Given the description of an element on the screen output the (x, y) to click on. 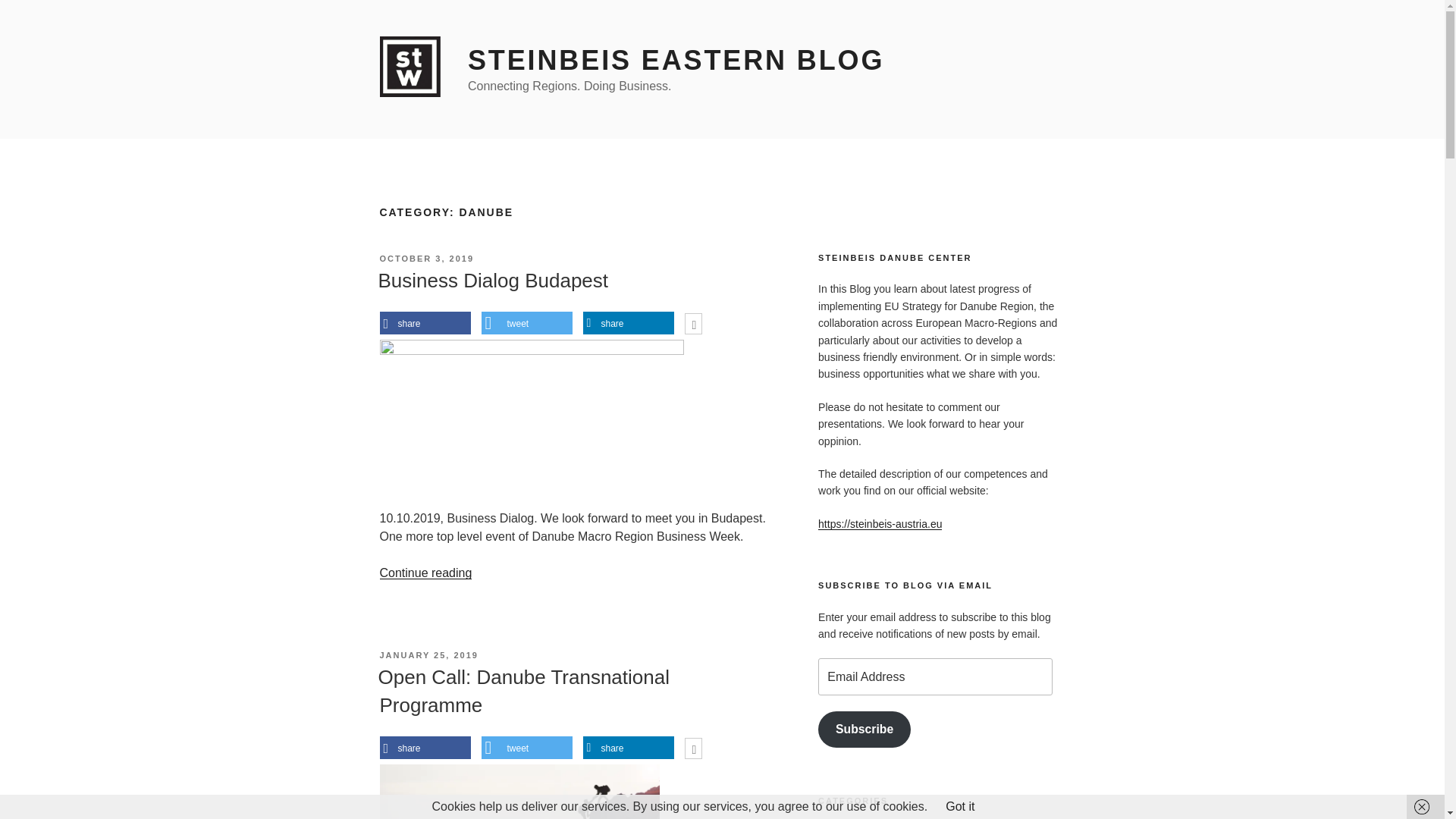
tweet (526, 323)
share (627, 323)
share (424, 748)
Share on Twitter (526, 748)
Business Dialog Budapest (492, 280)
Share on Facebook (424, 323)
share (627, 748)
Share on LinkedIn (627, 748)
Share on Twitter (526, 323)
tweet (526, 748)
Continue reading (424, 572)
JANUARY 25, 2019 (427, 655)
share (424, 323)
Share on Facebook (424, 748)
STEINBEIS EASTERN BLOG (675, 60)
